Given the description of an element on the screen output the (x, y) to click on. 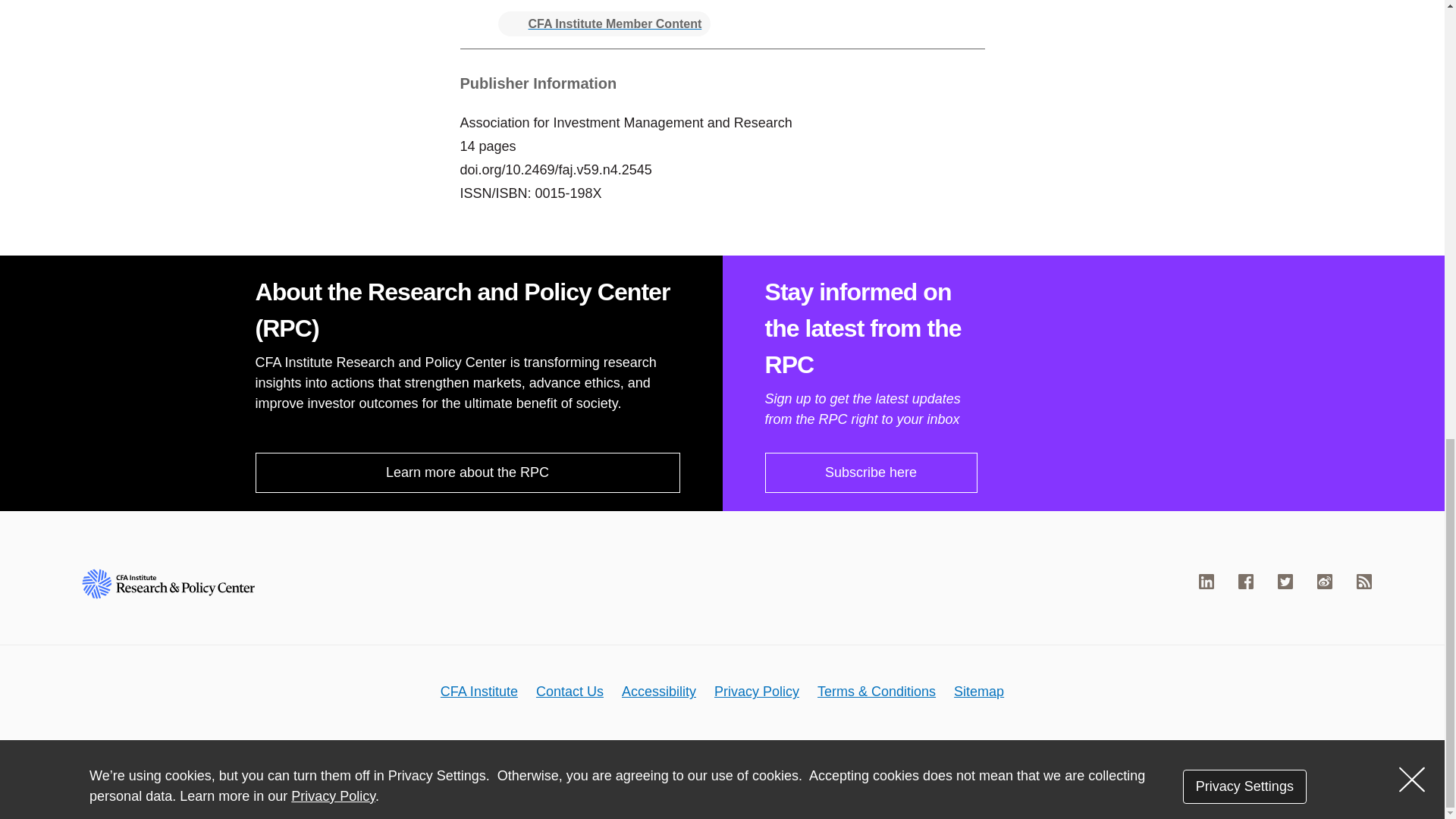
Privacy Policy (756, 691)
Terms and Conditions (876, 691)
CFA Institute Research and Policy Center RSS (1363, 581)
Twitter Page (1285, 581)
Linkedin Page (1206, 581)
Weibo Page (1324, 581)
Facebook Page (1246, 581)
Sitemap (978, 691)
